Given the description of an element on the screen output the (x, y) to click on. 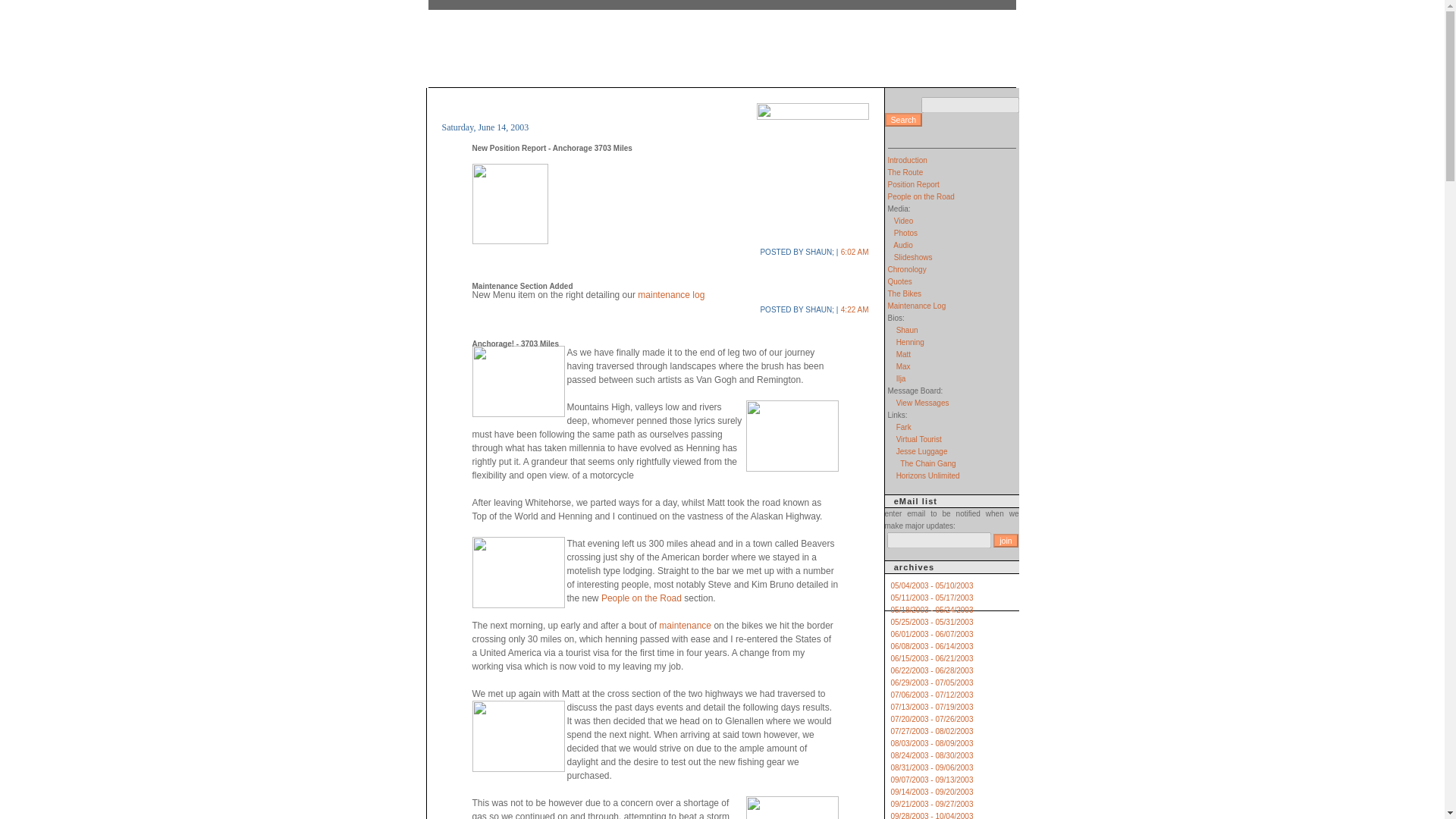
Stage One of the Route (904, 172)
Introduction (906, 160)
4:22 AM (855, 309)
The weird and the wonderful from all over (903, 427)
A few interesting quotes (898, 281)
About this site (906, 160)
Max Bio (903, 366)
Great Travelougue site! (919, 438)
Search (902, 119)
About the Machines (903, 293)
Map of where we are and where we have been with links (912, 184)
join (1004, 540)
6:02 AM (855, 252)
